Given the description of an element on the screen output the (x, y) to click on. 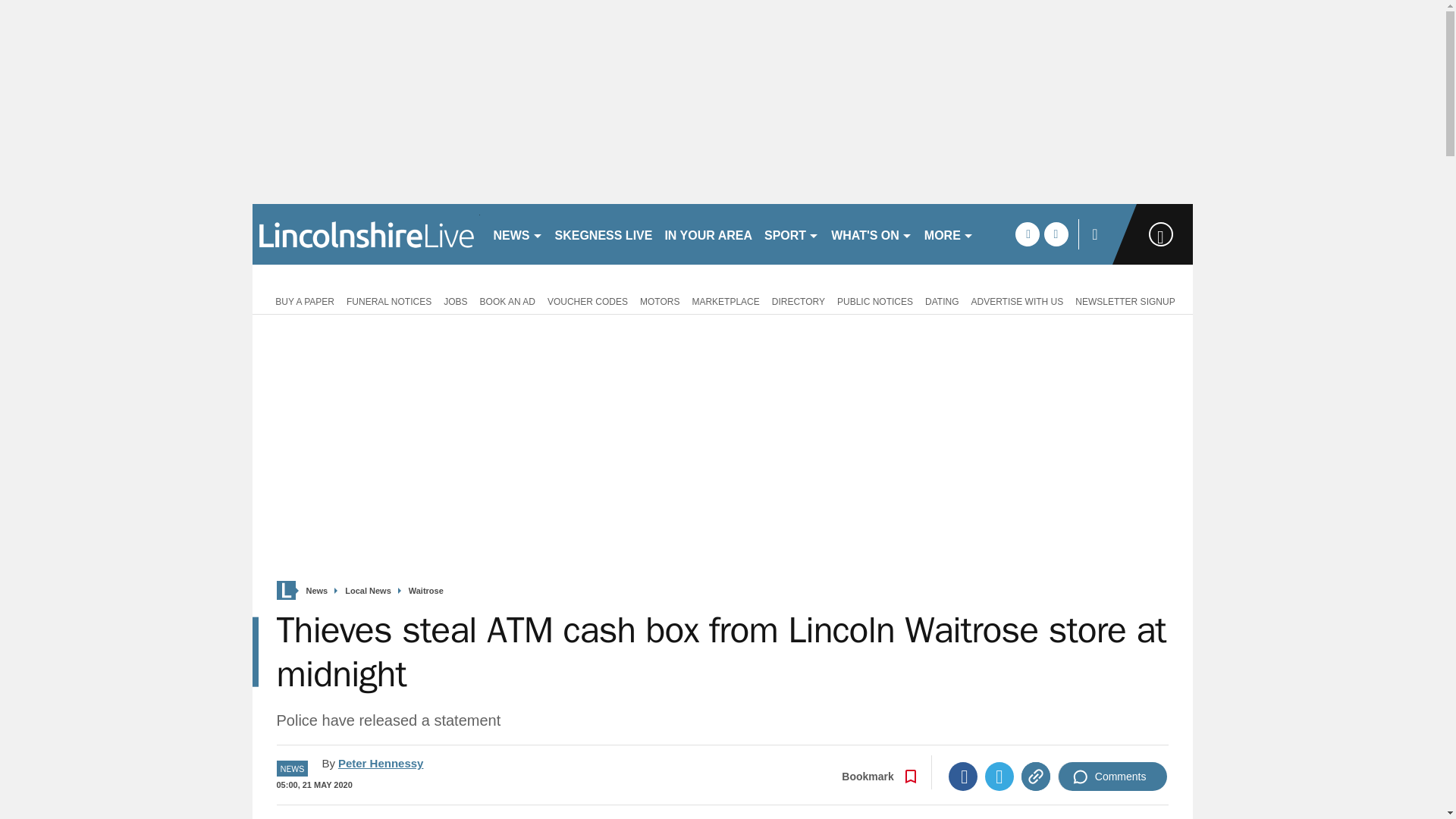
Facebook (962, 776)
Comments (1112, 776)
MORE (948, 233)
BUY A PAPER (301, 300)
SKEGNESS LIVE (603, 233)
lincolnshirelive (365, 233)
NEWS (517, 233)
twitter (1055, 233)
WHAT'S ON (871, 233)
IN YOUR AREA (708, 233)
Twitter (999, 776)
SPORT (791, 233)
facebook (1026, 233)
